Given the description of an element on the screen output the (x, y) to click on. 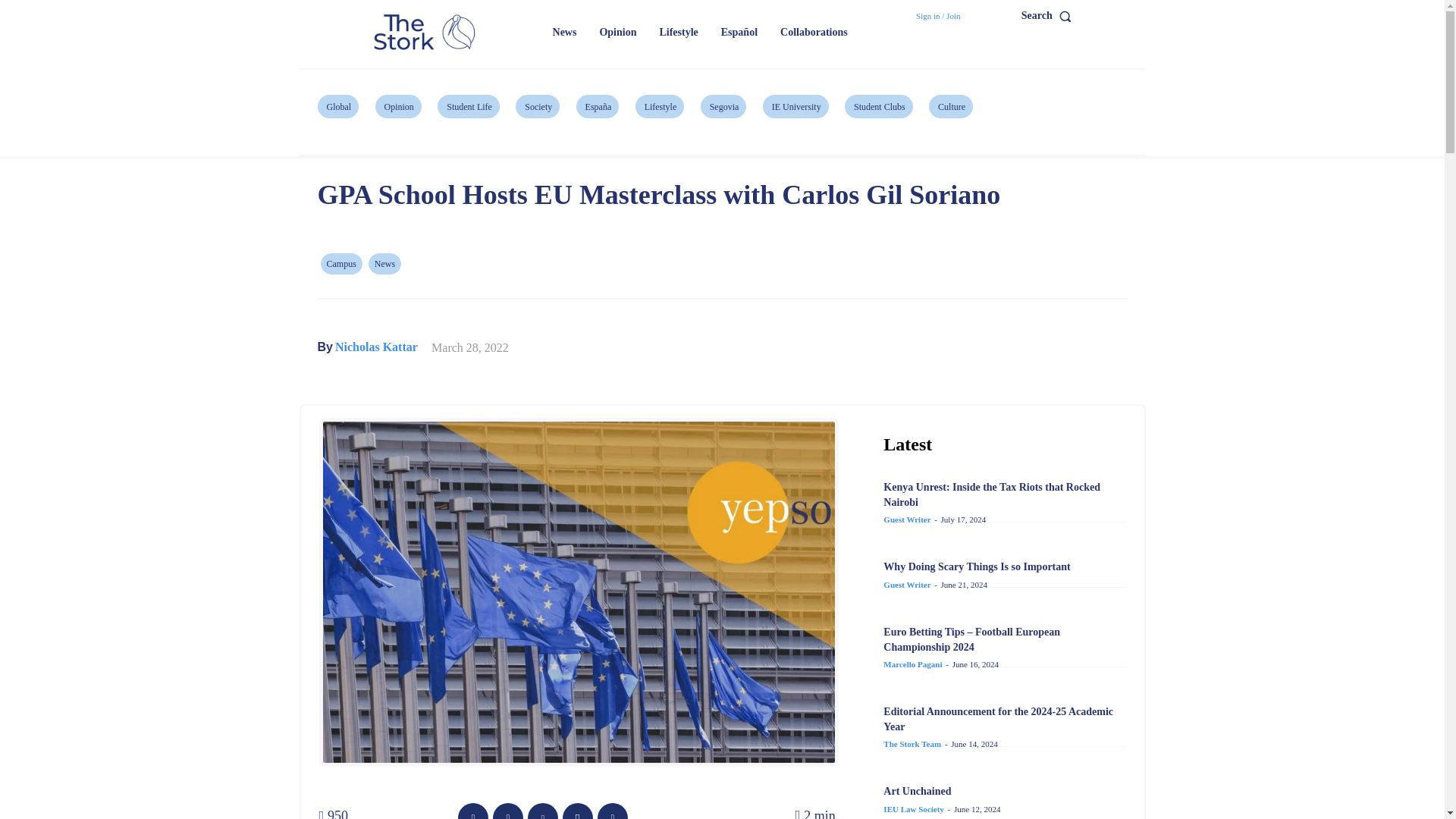
News (384, 263)
Student Life (468, 106)
Lifestyle (677, 32)
Opinion (398, 106)
Global (337, 106)
Linkedin (611, 811)
Pinterest (542, 811)
Culture (950, 106)
Twitter (507, 811)
IE University's student newspaper.  (426, 33)
